Given the description of an element on the screen output the (x, y) to click on. 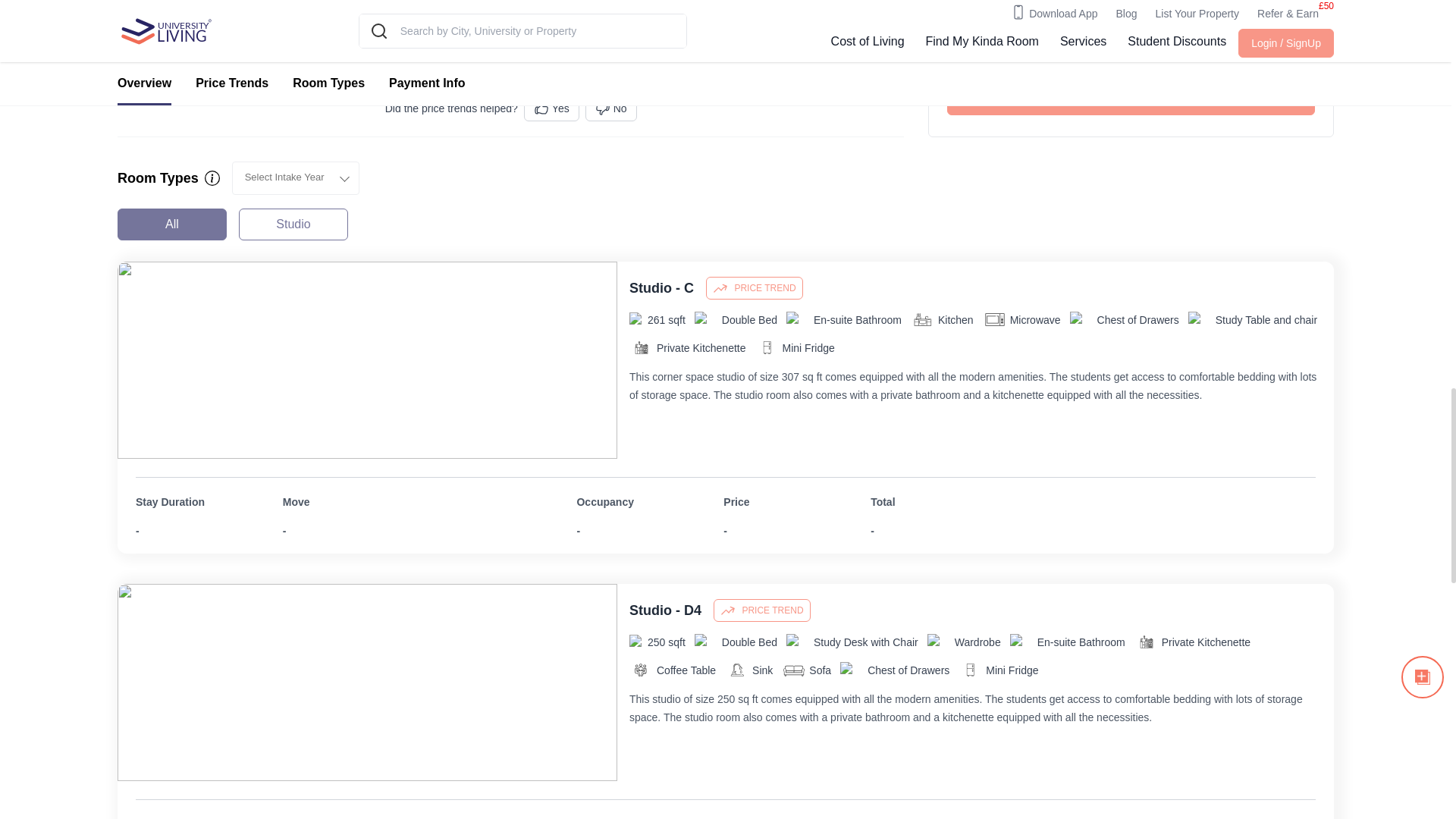
Studio (292, 224)
PRICE TREND (761, 609)
All (172, 224)
PRICE TREND (725, 224)
